Given the description of an element on the screen output the (x, y) to click on. 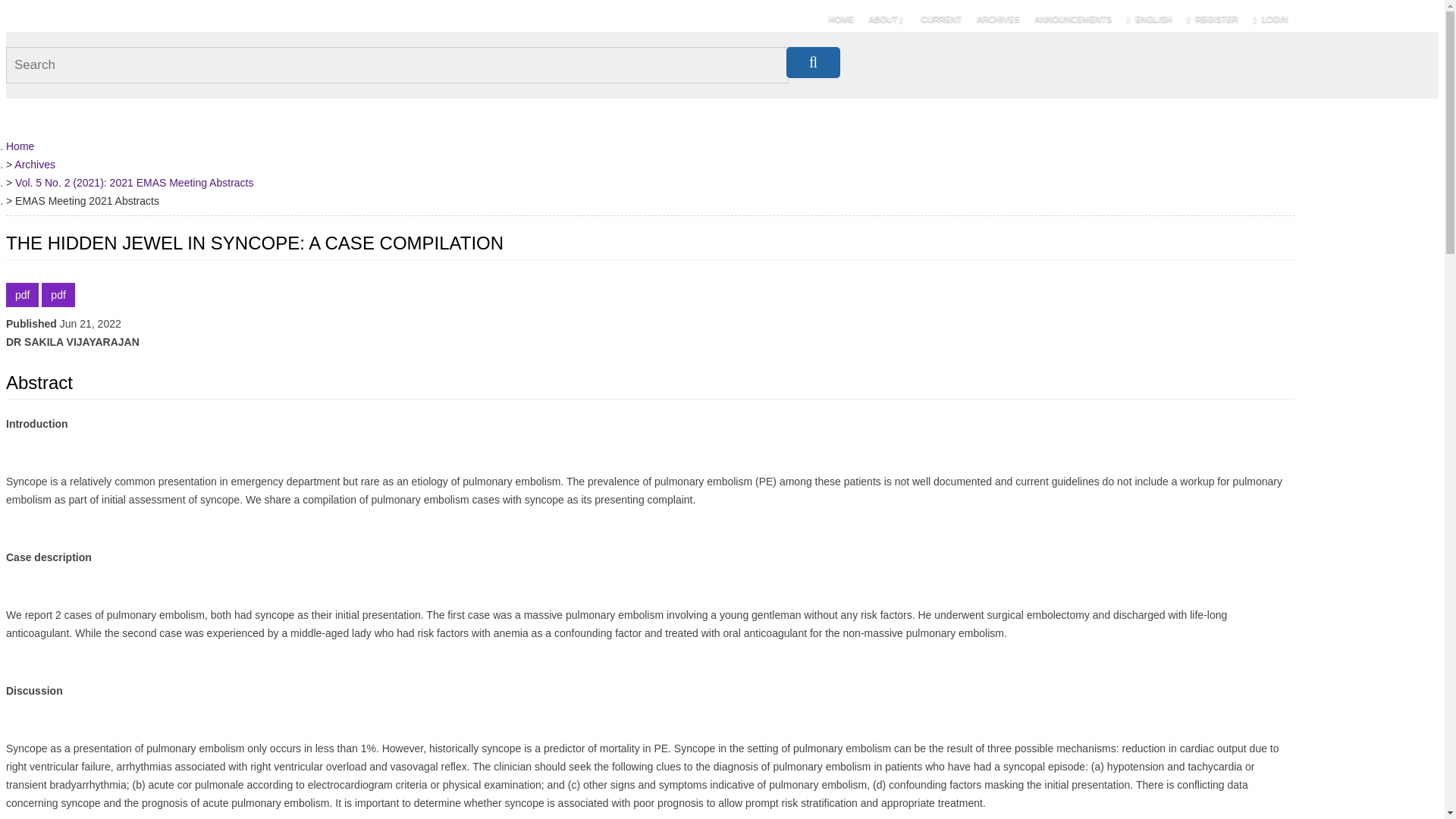
CURRENT (941, 18)
Archives (34, 163)
pdf (22, 294)
ABOUT (887, 18)
ENGLISH (1149, 18)
ARCHIVES (997, 18)
Home (19, 145)
pdf (58, 294)
REGISTER (1211, 18)
ANNOUNCEMENTS (1073, 18)
LOGIN (1270, 18)
HOME (841, 18)
